Given the description of an element on the screen output the (x, y) to click on. 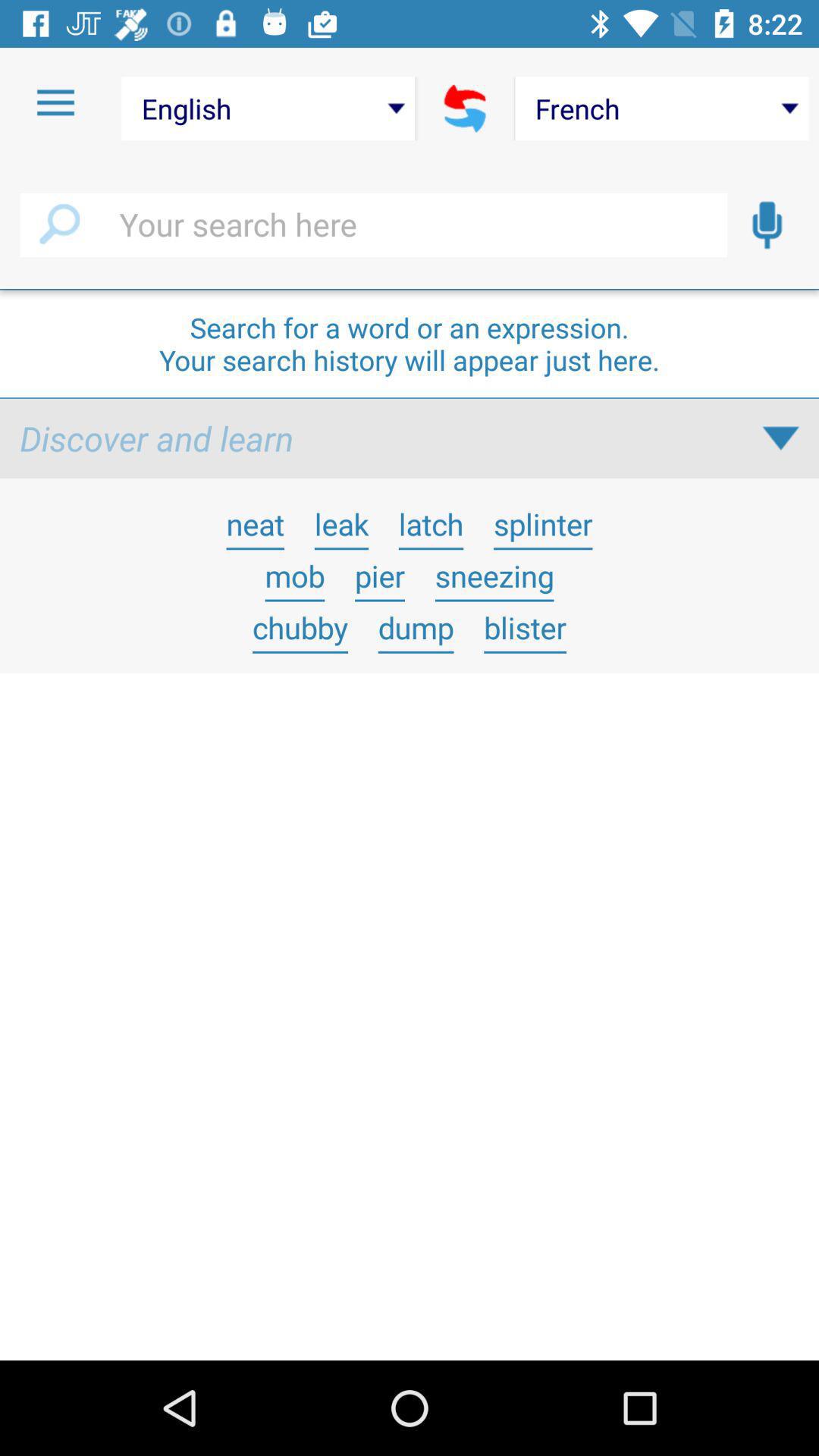
tap item next to leak (430, 523)
